Given the description of an element on the screen output the (x, y) to click on. 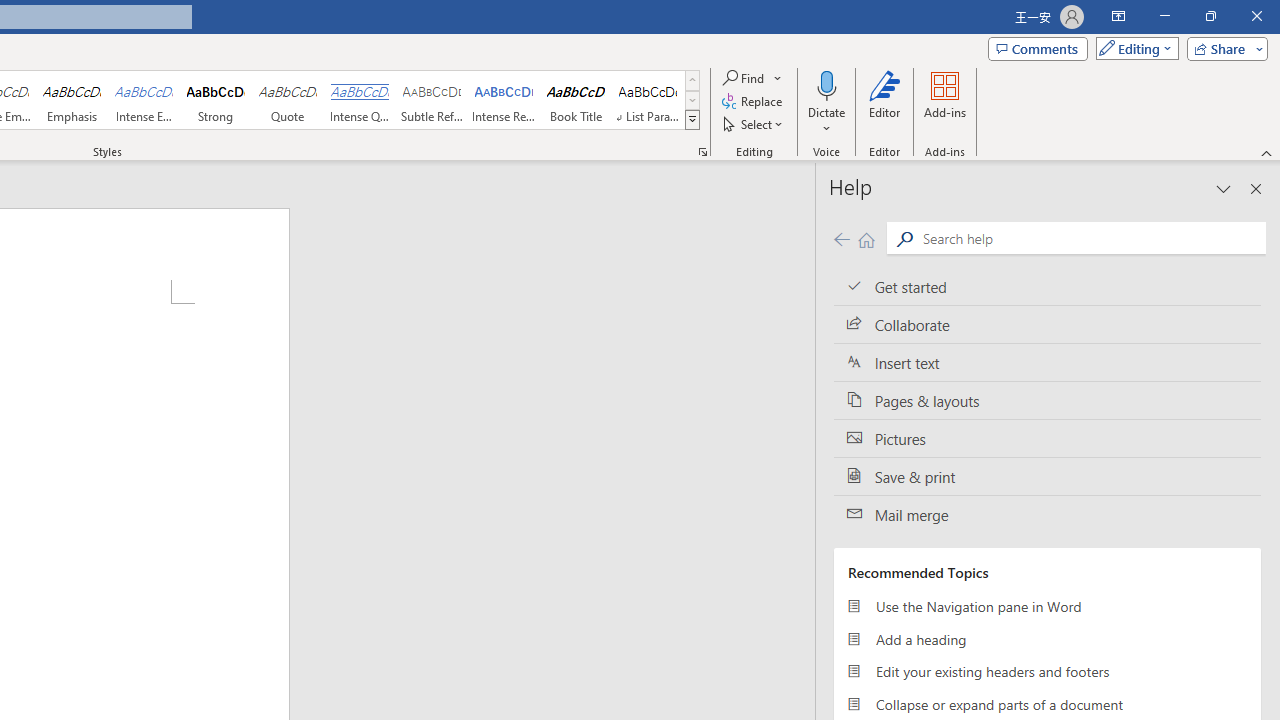
Intense Quote (359, 100)
Pages & layouts (1047, 400)
